Given the description of an element on the screen output the (x, y) to click on. 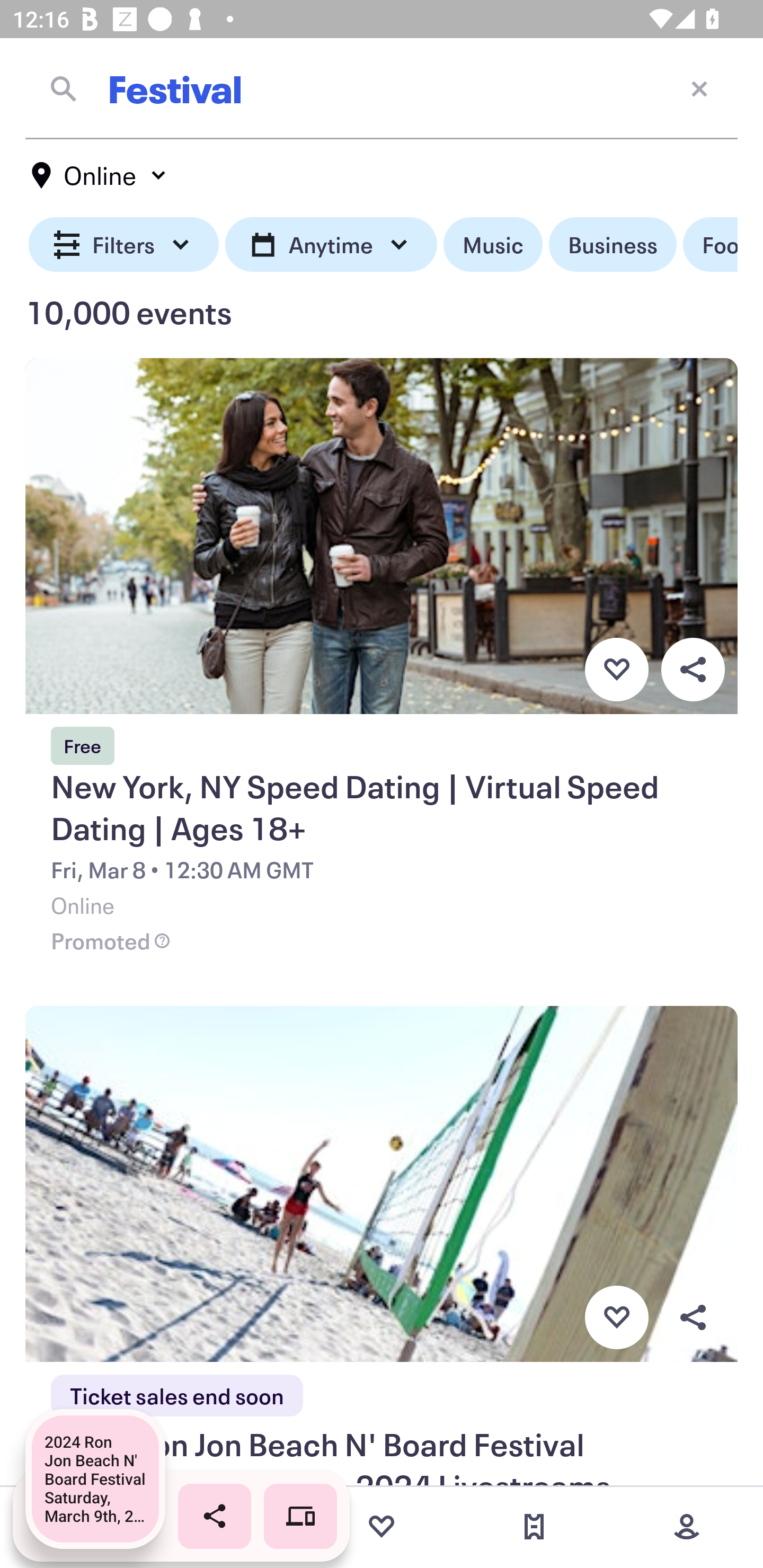
Festival Close current screen (381, 88)
Close current screen (699, 88)
Online (99, 175)
Filters (123, 244)
Anytime (331, 244)
Music (492, 244)
Business (612, 244)
Favorite button (616, 669)
Overflow menu button (692, 669)
Favorite button (616, 1317)
Overflow menu button (692, 1317)
Favorites (381, 1526)
Tickets (533, 1526)
More (686, 1526)
